Given the description of an element on the screen output the (x, y) to click on. 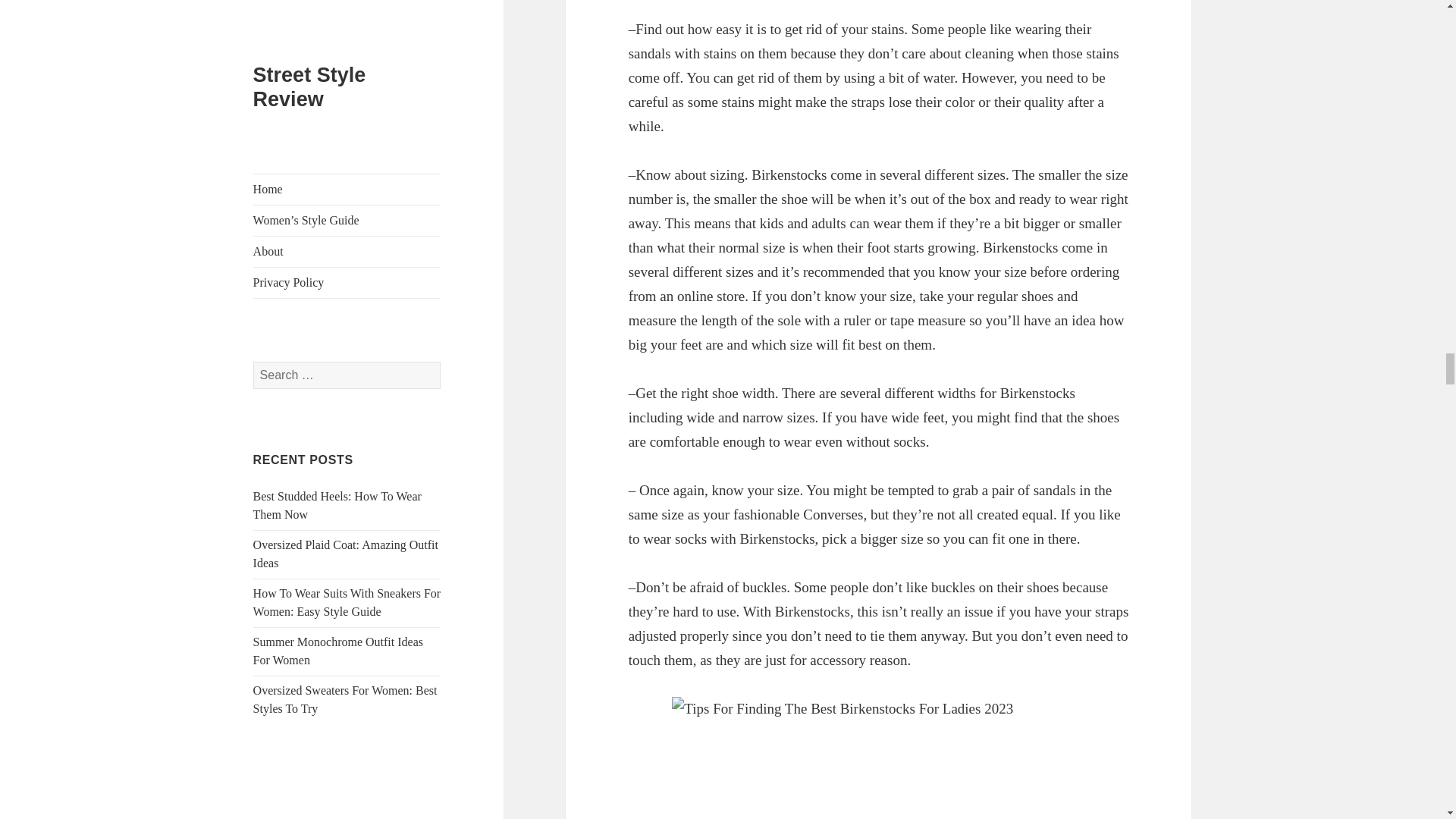
Tips For Finding The Best Birkenstocks For Ladies 2023 (877, 757)
